Given the description of an element on the screen output the (x, y) to click on. 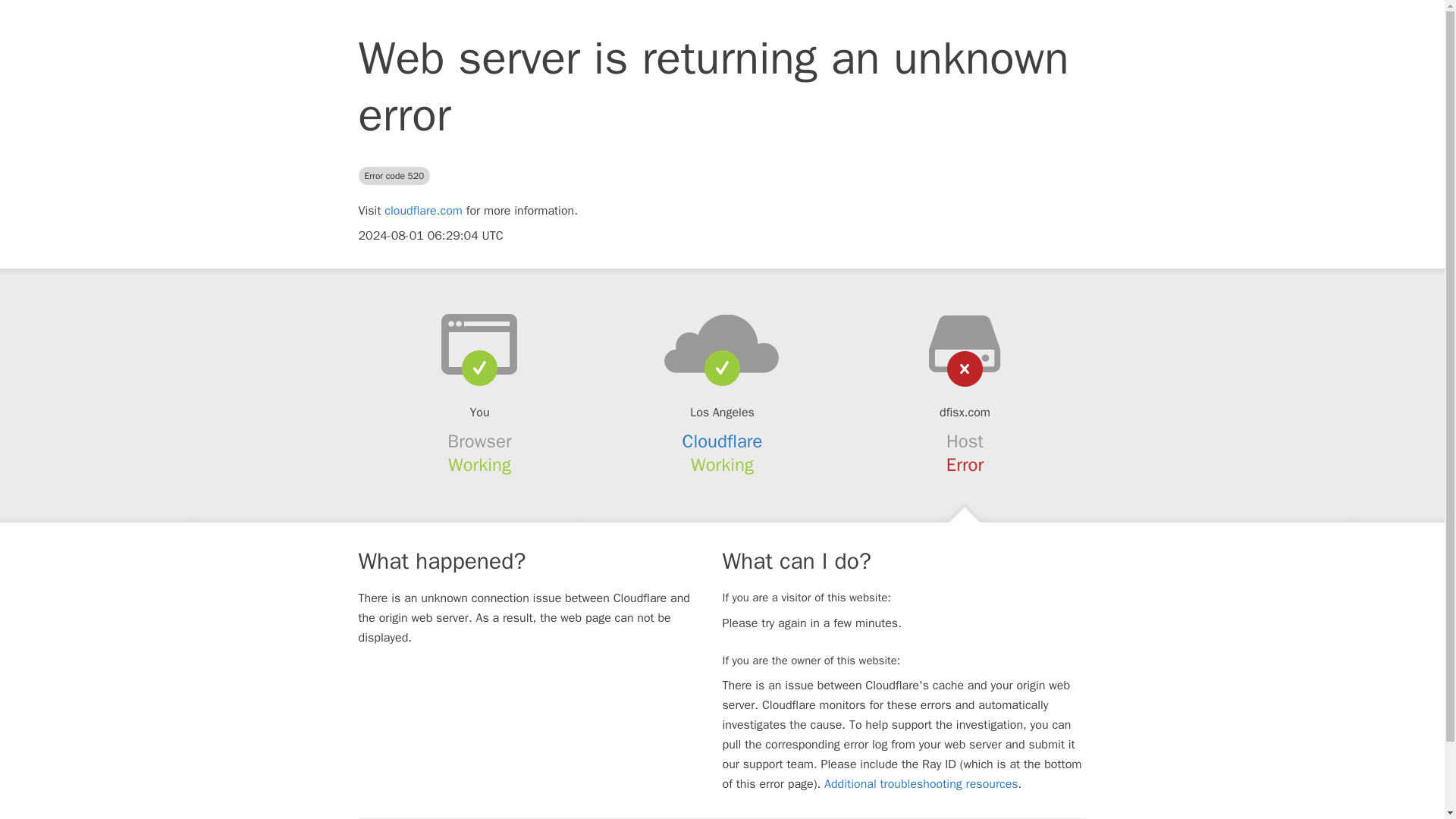
Additional troubleshooting resources (920, 783)
cloudflare.com (423, 210)
Cloudflare (722, 440)
